Given the description of an element on the screen output the (x, y) to click on. 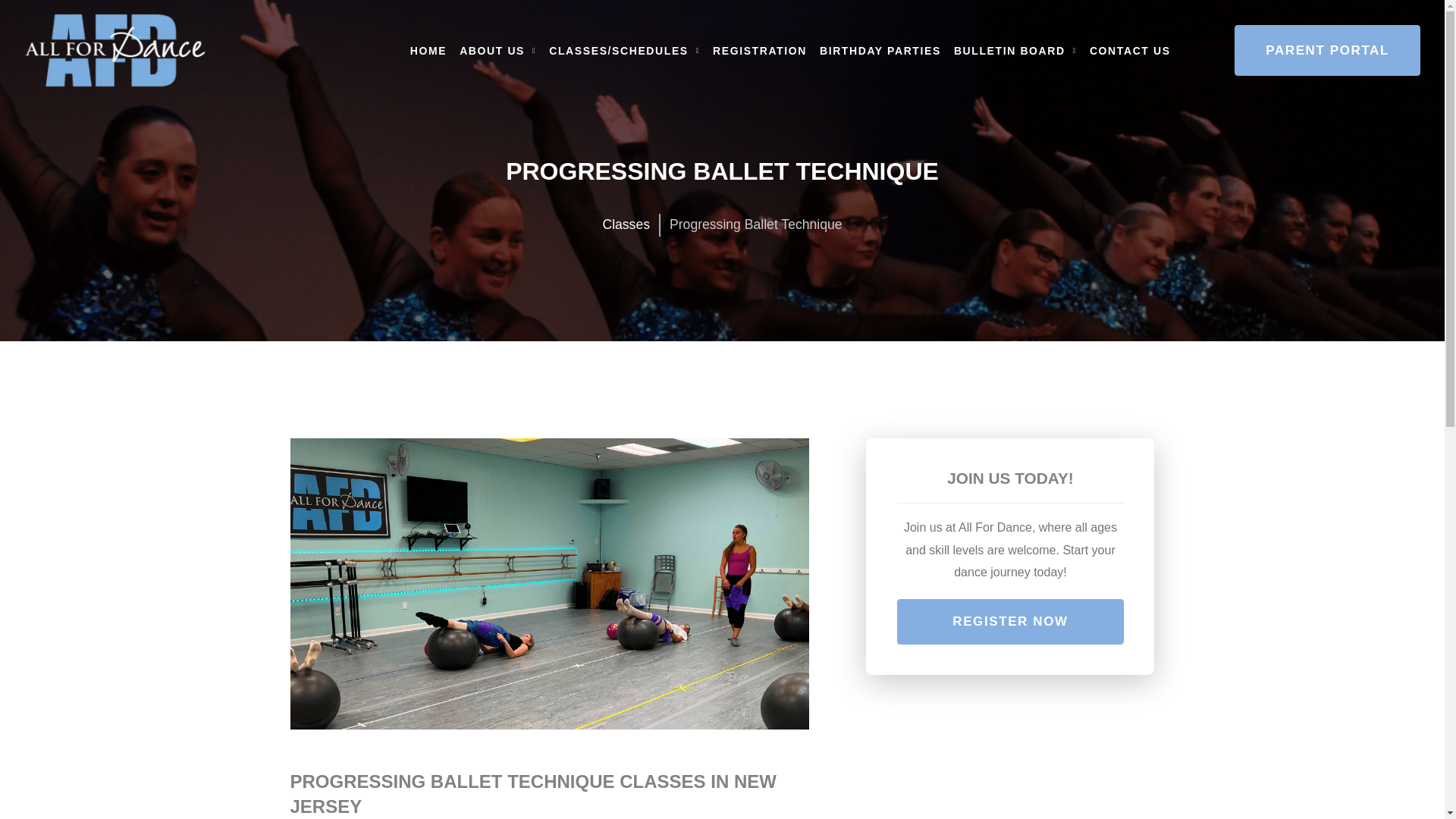
ABOUT US (497, 50)
REGISTRATION (759, 50)
HOME (428, 50)
BIRTHDAY PARTIES (879, 50)
CONTACT US (1129, 50)
BULLETIN BOARD (1015, 50)
